Given the description of an element on the screen output the (x, y) to click on. 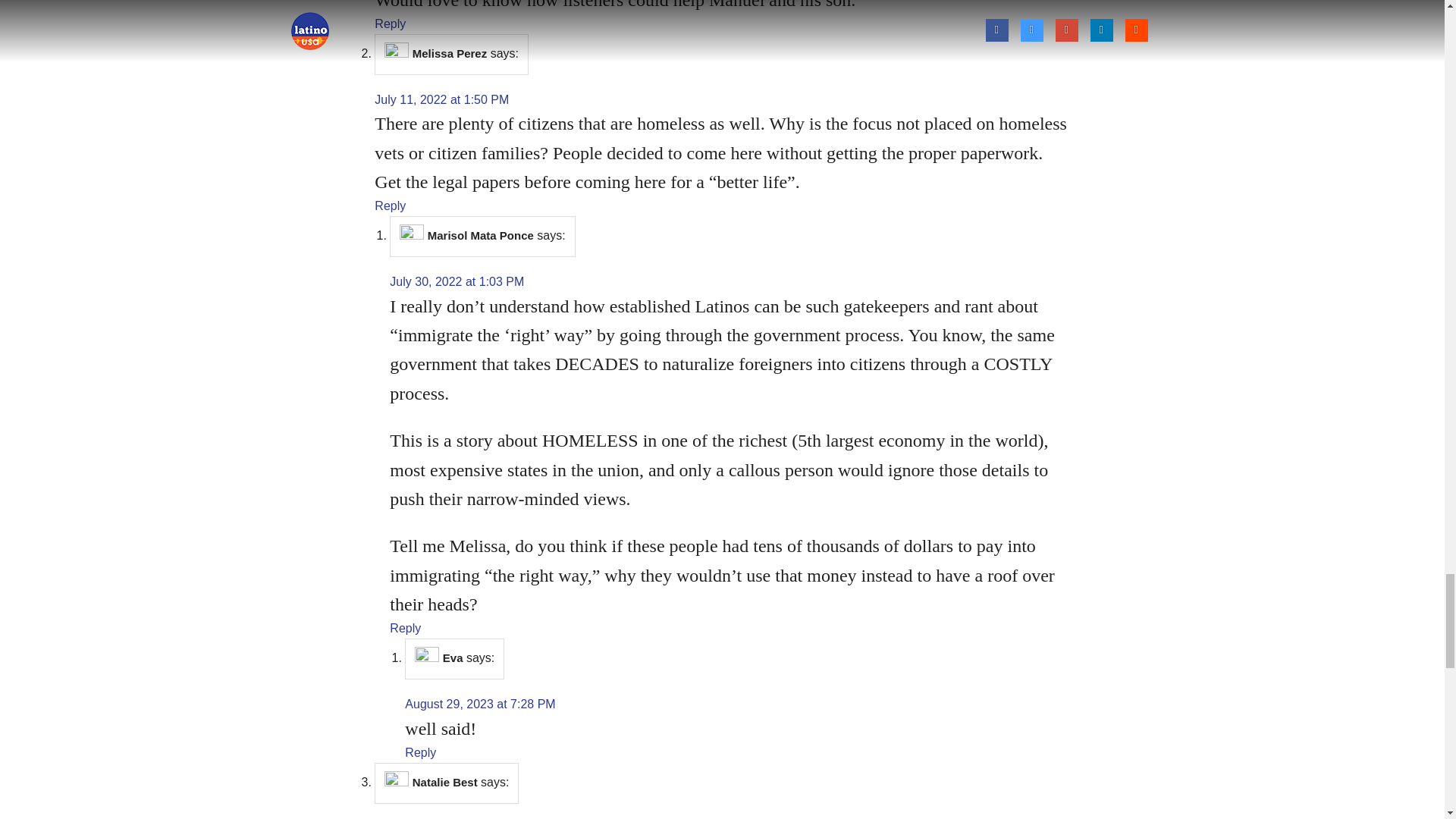
July 30, 2022 at 1:03 PM (457, 281)
Reply (405, 627)
Reply (419, 752)
Reply (390, 23)
July 11, 2022 at 1:50 PM (441, 99)
Reply (390, 205)
August 29, 2023 at 7:28 PM (479, 703)
